Given the description of an element on the screen output the (x, y) to click on. 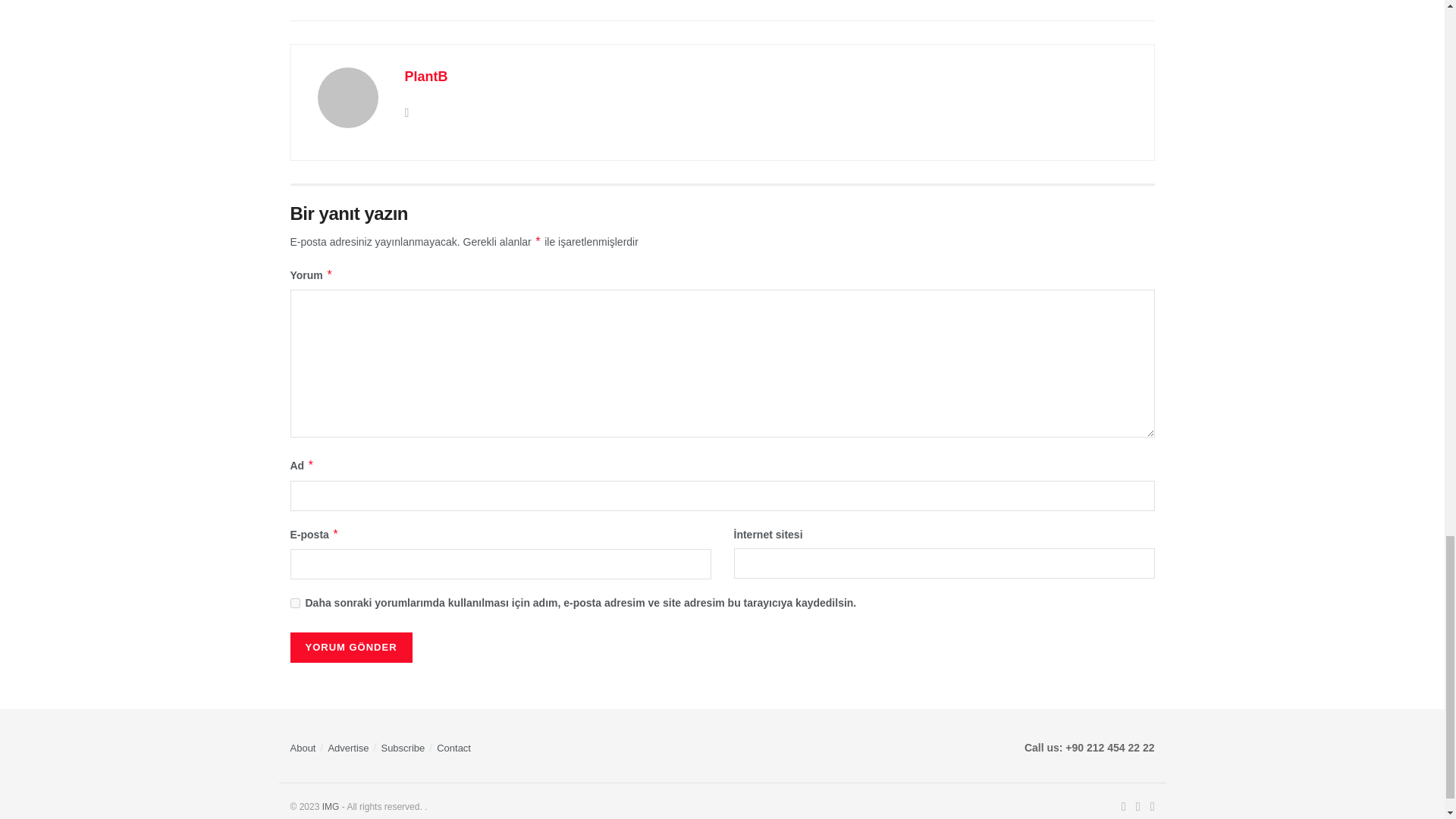
yes (294, 603)
